Given the description of an element on the screen output the (x, y) to click on. 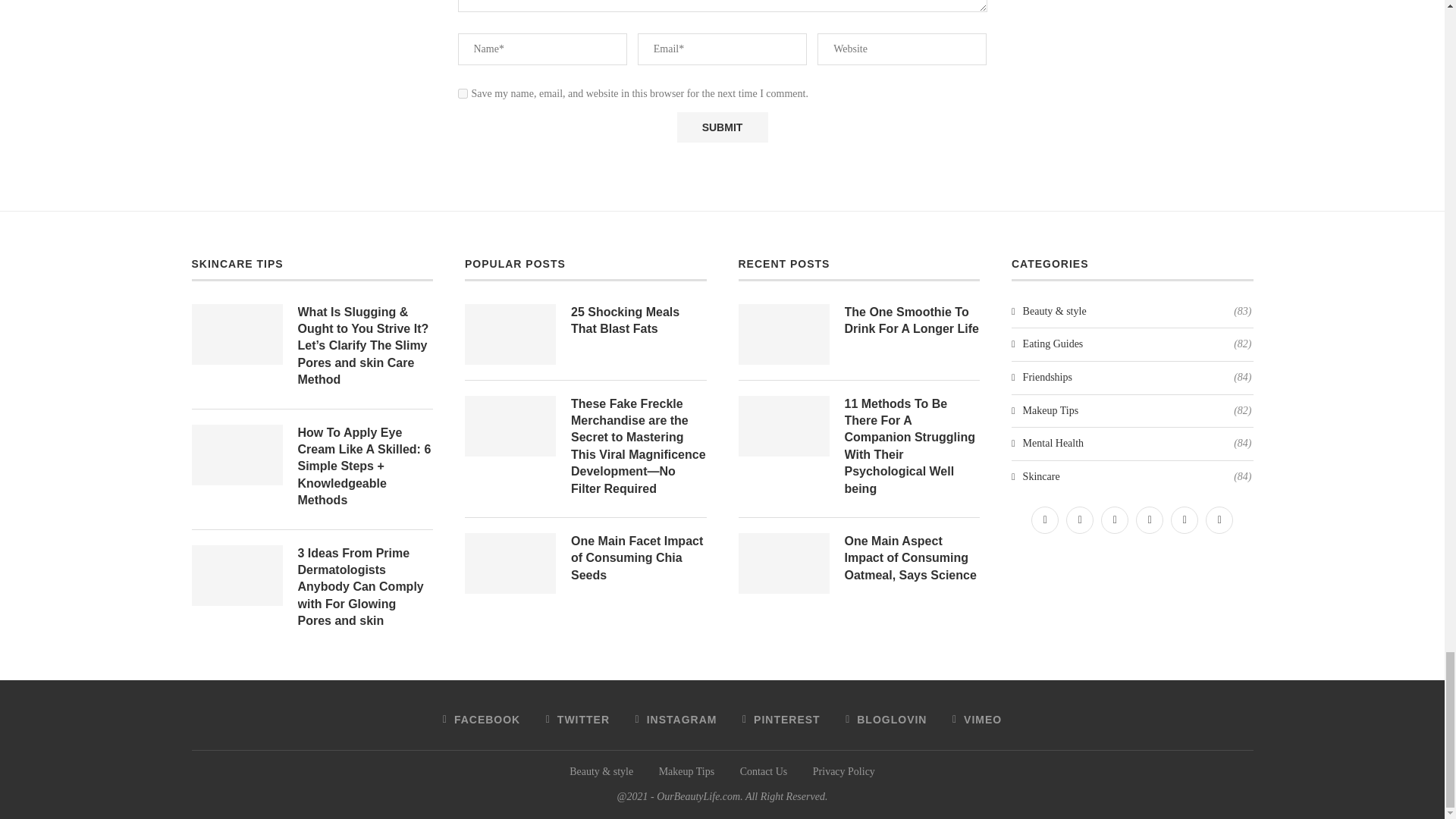
yes (462, 93)
Submit (722, 127)
